Given the description of an element on the screen output the (x, y) to click on. 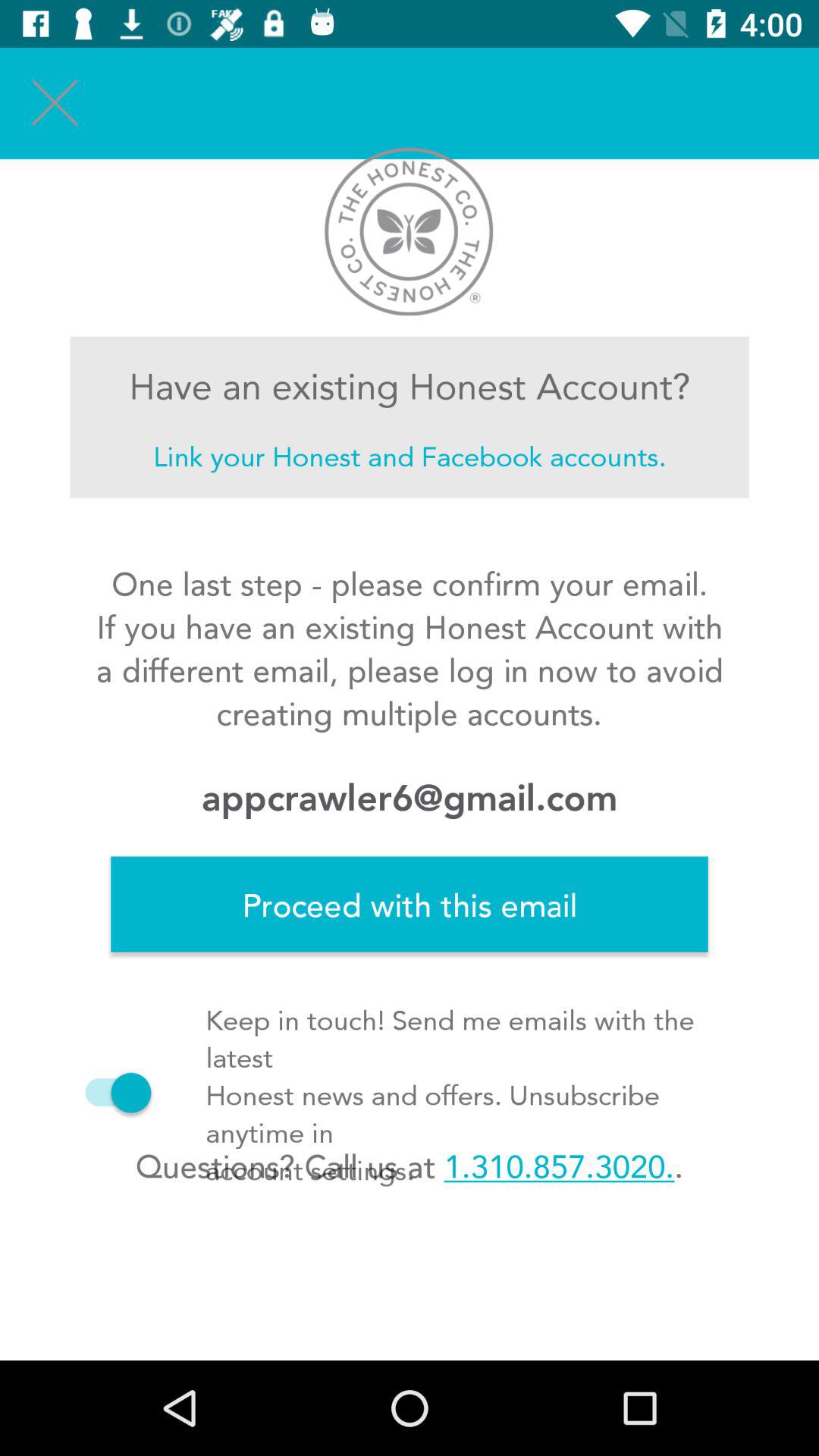
open icon at the top left corner (55, 103)
